Given the description of an element on the screen output the (x, y) to click on. 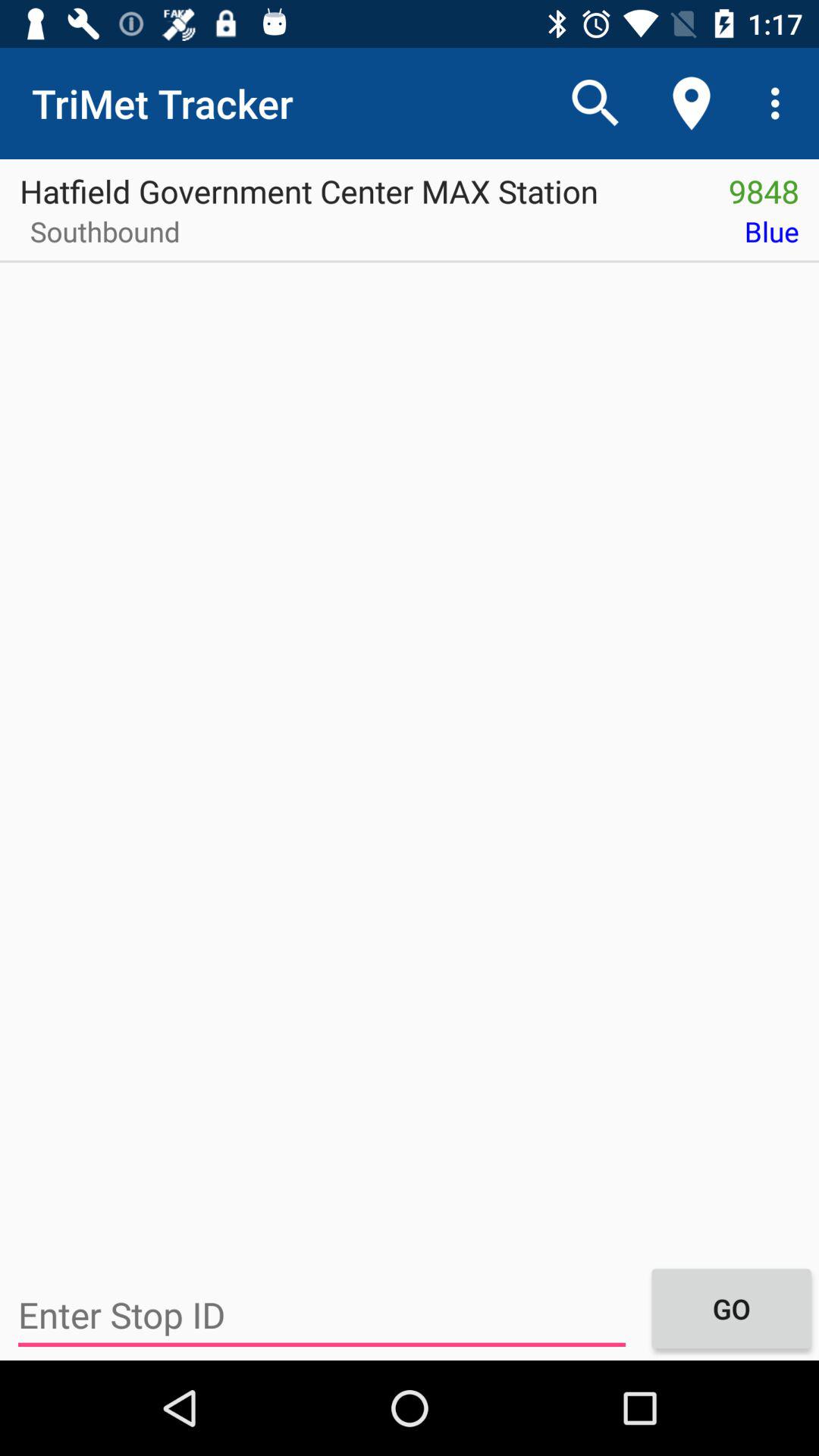
flip to 9848 icon (763, 185)
